Given the description of an element on the screen output the (x, y) to click on. 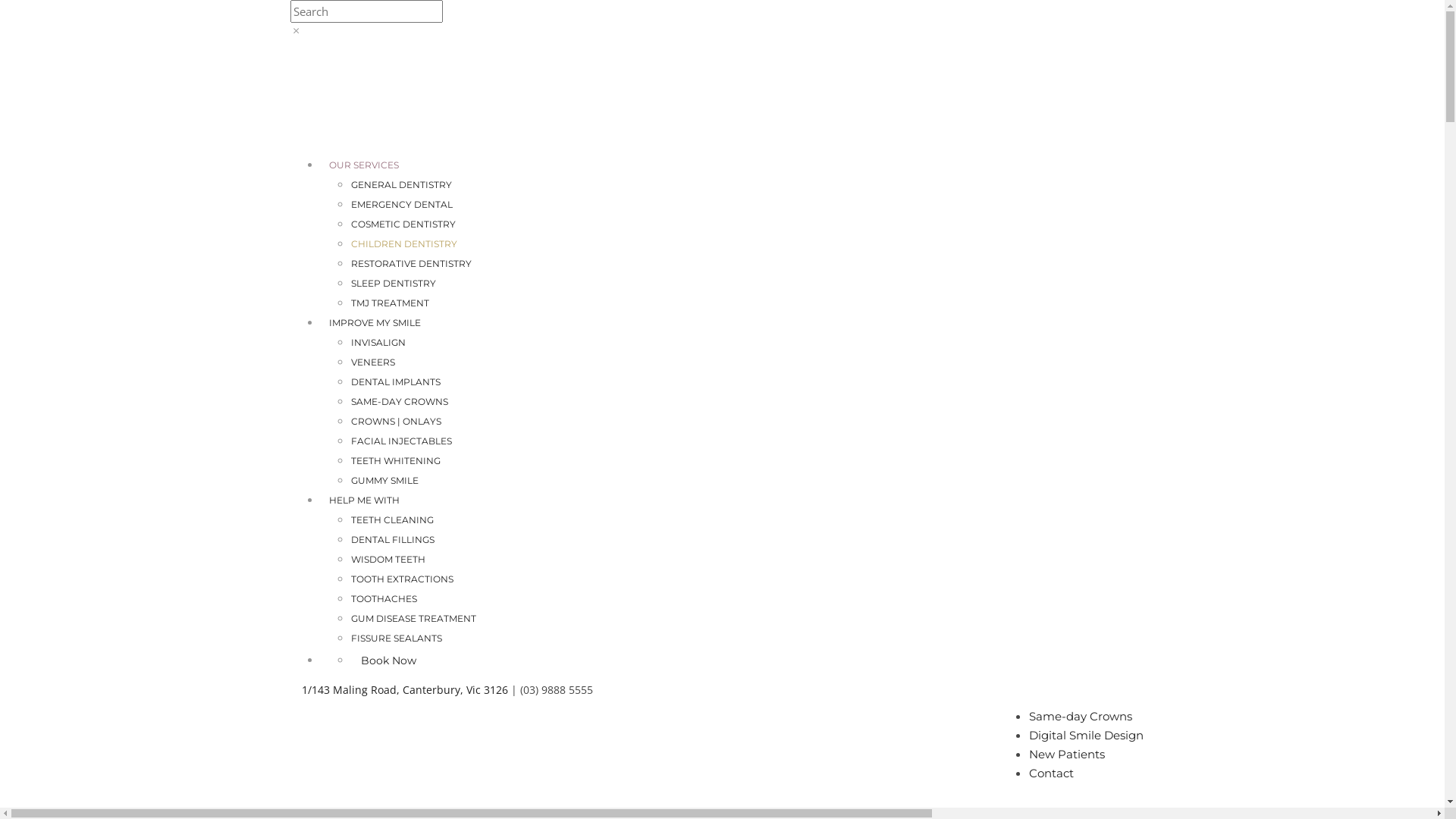
INVISALIGN Element type: text (377, 342)
DENTAL FILLINGS Element type: text (391, 539)
Contact Element type: text (1050, 772)
Same-day Crowns Element type: text (1079, 716)
SLEEP DENTISTRY Element type: text (392, 282)
CHILDREN DENTISTRY Element type: text (403, 243)
New Patients Element type: text (1066, 753)
DENTAL IMPLANTS Element type: text (394, 381)
TMJ TREATMENT Element type: text (389, 302)
FACIAL INJECTABLES Element type: text (400, 440)
HELP ME WITH Element type: text (363, 499)
GUMMY SMILE Element type: text (383, 480)
VENEERS Element type: text (372, 361)
Book Now Element type: text (387, 660)
GUM DISEASE TREATMENT Element type: text (412, 618)
RESTORATIVE DENTISTRY Element type: text (410, 263)
WISDOM TEETH Element type: text (387, 558)
IMPROVE MY SMILE Element type: text (374, 322)
Dentistry In Canterbury Element type: hover (392, 95)
TOOTH EXTRACTIONS Element type: text (401, 578)
EMERGENCY DENTAL Element type: text (400, 204)
OUR SERVICES Element type: text (363, 164)
TEETH WHITENING Element type: text (394, 460)
GENERAL DENTISTRY Element type: text (400, 184)
COSMETIC DENTISTRY Element type: text (402, 223)
CROWNS | ONLAYS Element type: text (395, 420)
TEETH CLEANING Element type: text (391, 519)
Digital Smile Design Element type: text (1085, 735)
SAME-DAY CROWNS Element type: text (398, 401)
1/143 Maling Road, Canterbury, Vic 3126 Element type: text (404, 689)
TOOTHACHES Element type: text (383, 598)
FISSURE SEALANTS Element type: text (395, 637)
